Given the description of an element on the screen output the (x, y) to click on. 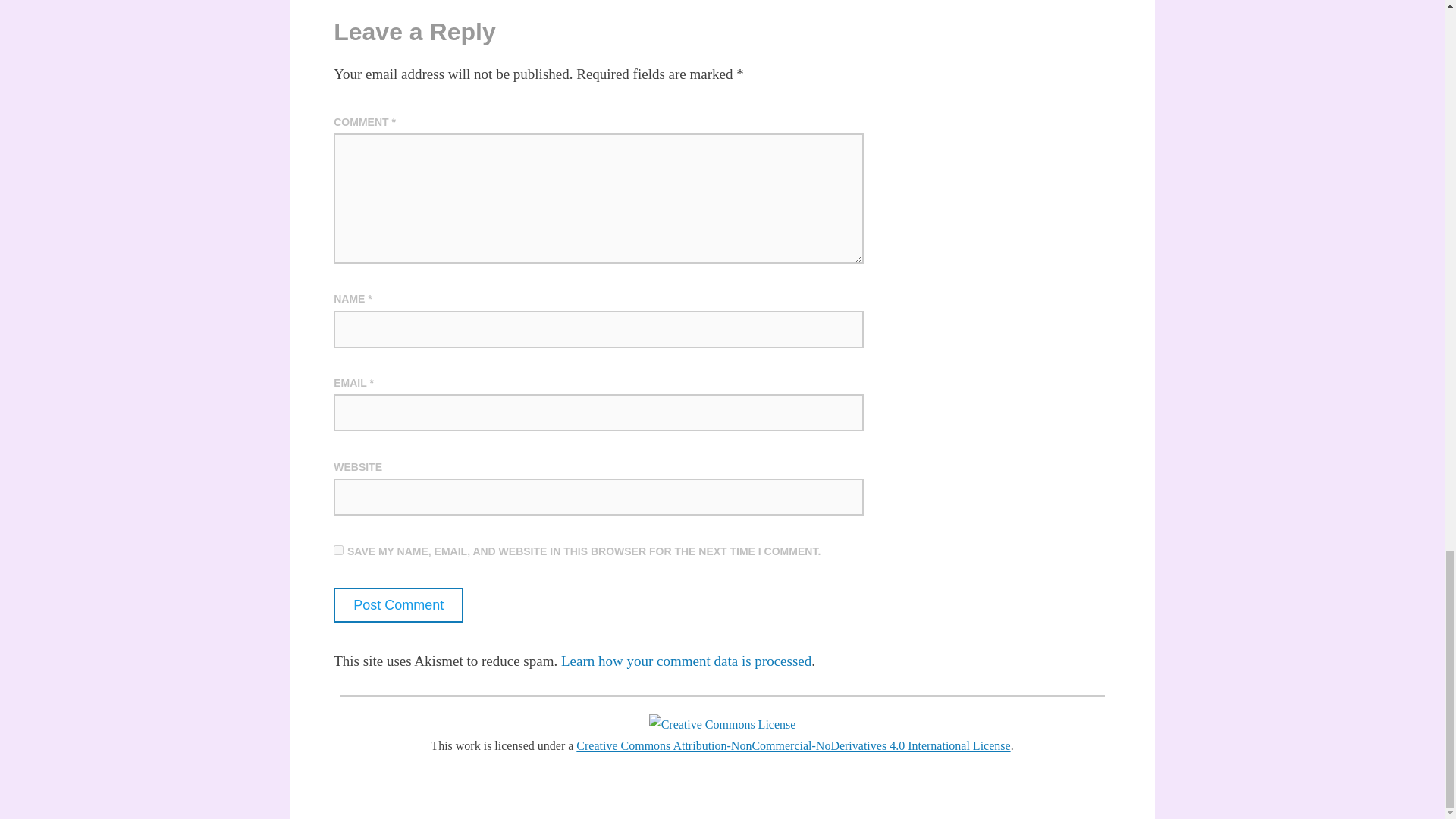
Post Comment (398, 605)
yes (338, 550)
Post Comment (398, 605)
Learn how your comment data is processed (685, 660)
